Given the description of an element on the screen output the (x, y) to click on. 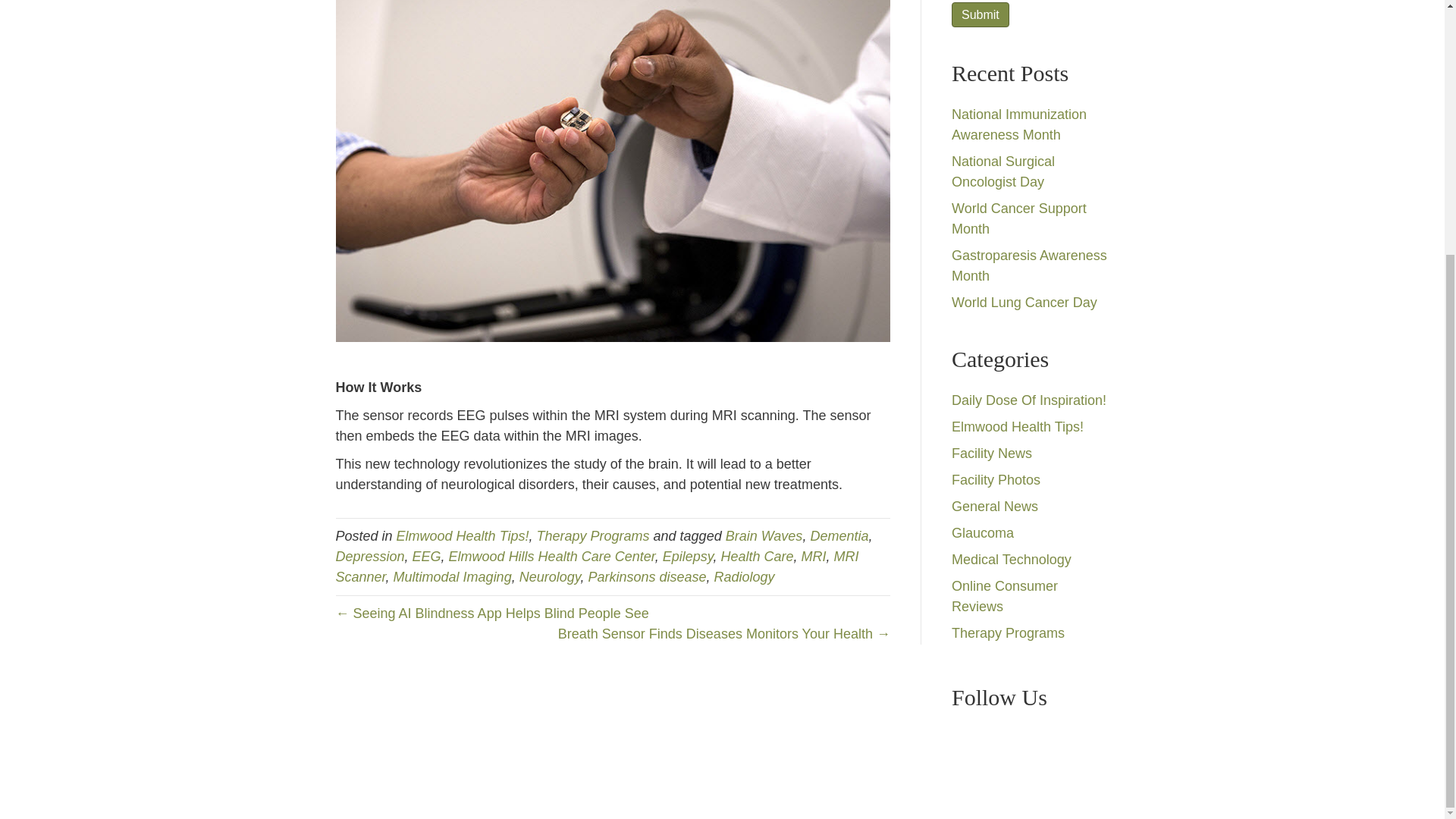
Multimodal Imaging (452, 576)
National Surgical Oncologist Day (1003, 171)
Submit (980, 14)
Elmwood Hills Health Care Center (551, 556)
Epilepsy (687, 556)
MRI Scanner (596, 566)
National Immunization Awareness Month (1019, 124)
Therapy Programs (593, 535)
Health Care (756, 556)
Elmwood Health Tips! (462, 535)
